Given the description of an element on the screen output the (x, y) to click on. 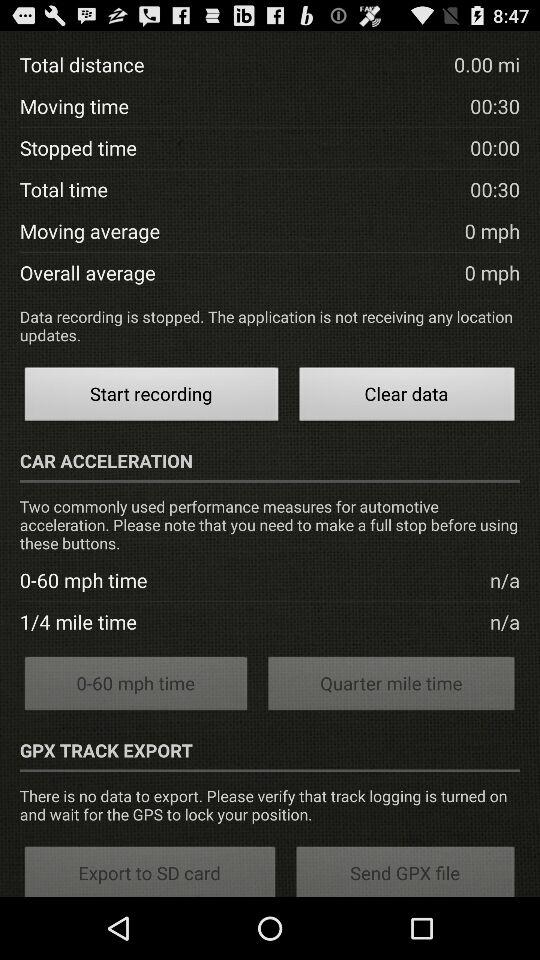
choose the icon to the left of the clear data item (151, 396)
